Given the description of an element on the screen output the (x, y) to click on. 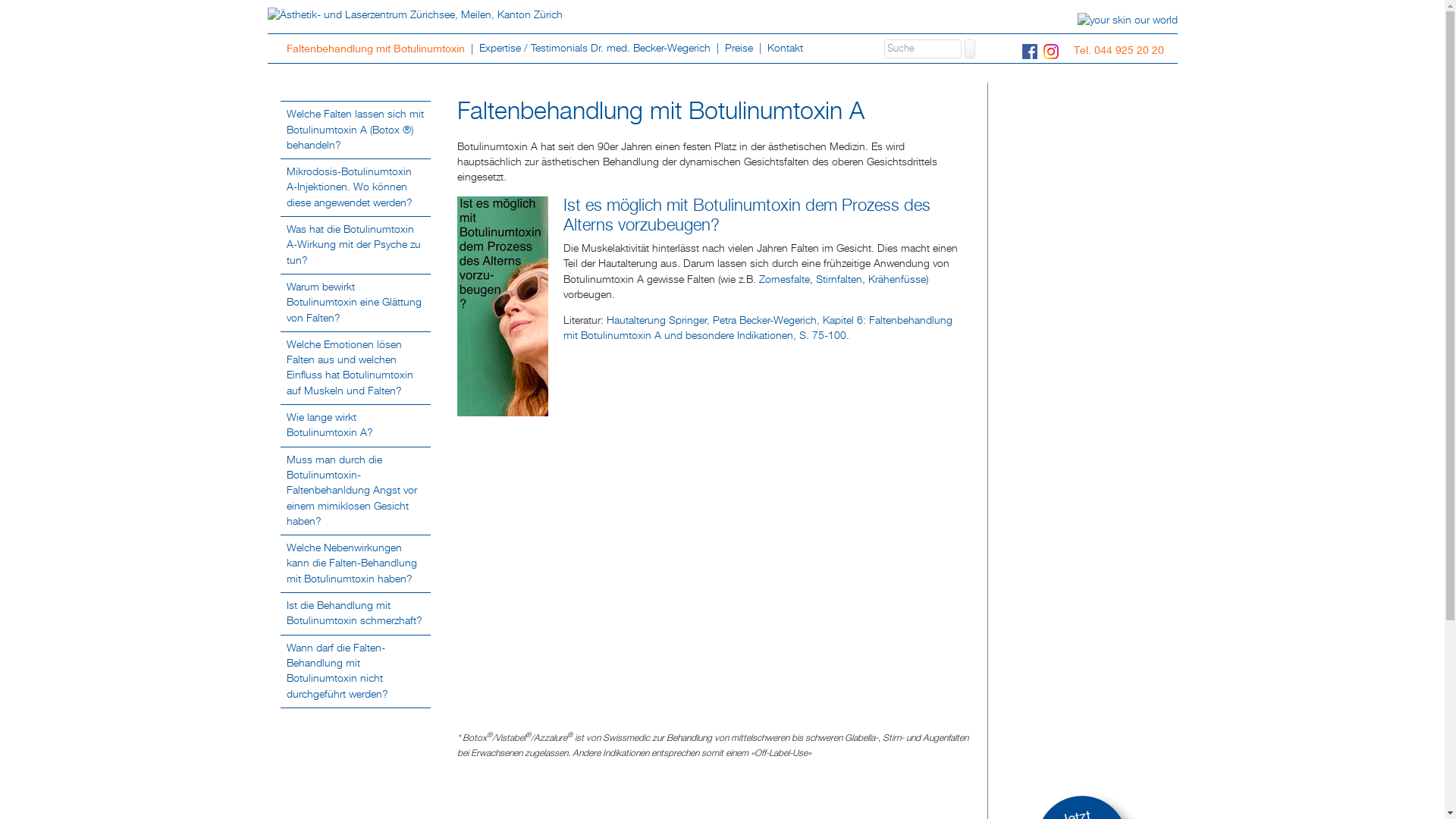
Was hat die Botulinumtoxin A-Wirkung mit der Psyche zu tun? Element type: text (353, 245)
Tel. 044 925 20 20 Element type: text (1121, 49)
Wie lange wirkt Botulinumtoxin A? Element type: text (329, 425)
Preise Element type: text (739, 48)
Kontakt Element type: text (785, 48)
Expertise / Testimonials Dr. med. Becker-Wegerich Element type: text (595, 48)
Zornesfalte Element type: text (783, 279)
Stirnfalten Element type: text (838, 279)
Faltenbehandlung mit Botulinumtoxin Element type: text (376, 48)
Ist die Behandlung mit Botulinumtoxin schmerzhaft? Element type: text (354, 613)
